Given the description of an element on the screen output the (x, y) to click on. 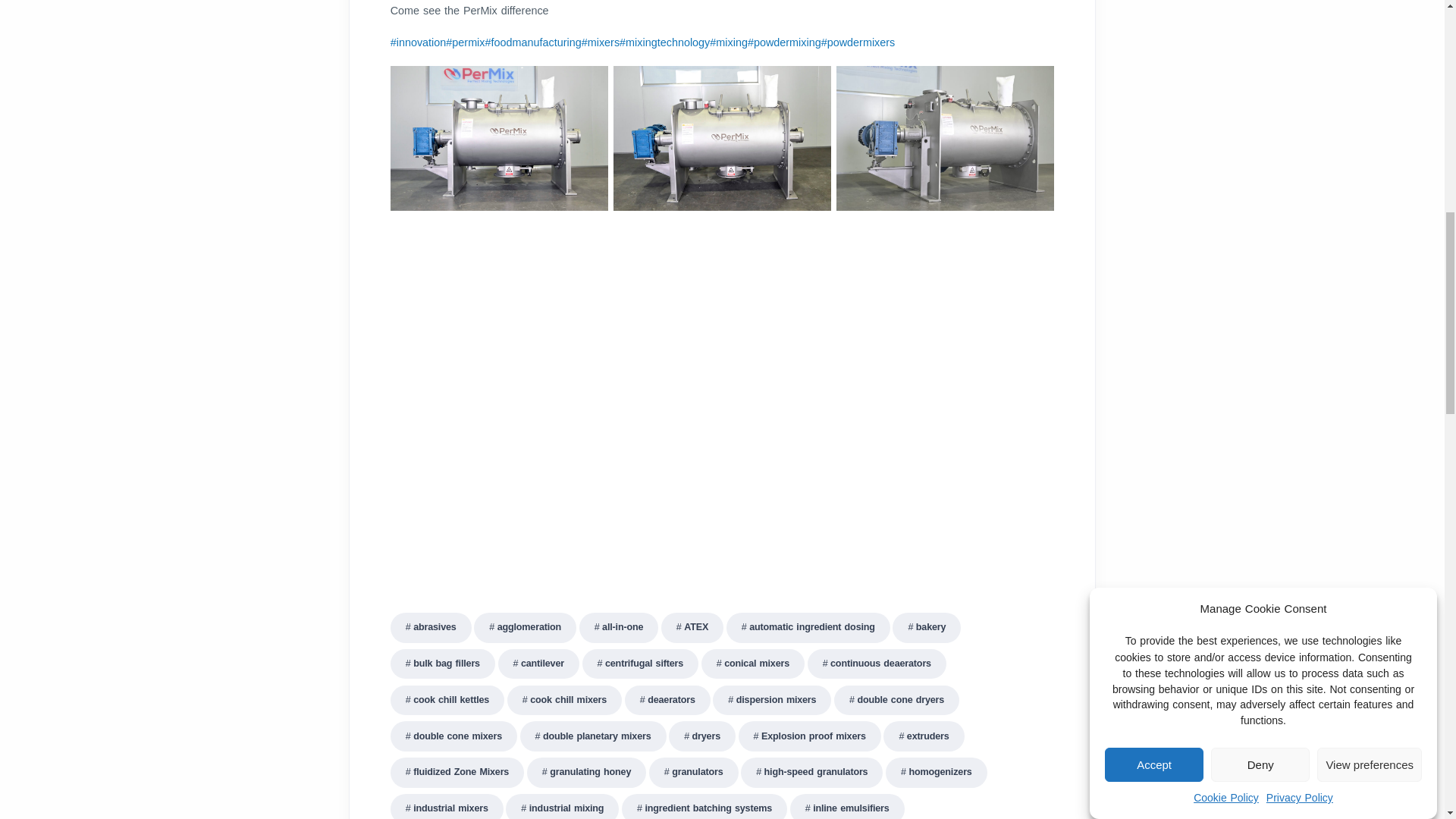
Accept (1154, 203)
PerMix-Paddle-Mixer-4214-copy - Industrial Mixers (944, 138)
Cookie Policy (1226, 99)
PerMix-Paddle-Mixer-4247-copy - Industrial Mixers (944, 288)
View preferences (1369, 144)
PerMix-Paddle-Mixer-4218-copy - Industrial Mixers (499, 288)
PerMix-Paddle-Mixer-4209-copy - Industrial Mixers (721, 138)
Privacy Policy (1299, 82)
PerMix-Paddle-Mixer-4207-copy - Industrial Mixers (499, 138)
Deny (1259, 173)
PerMix-Paddle-Mixer-4292-copy-2 - Industrial Mixers (554, 475)
PerMix-Paddle-Mixer-4245-copy - Industrial Mixers (721, 288)
PerMix-Paddle-Mixer-4300-copy - Industrial Mixers (889, 475)
